Given the description of an element on the screen output the (x, y) to click on. 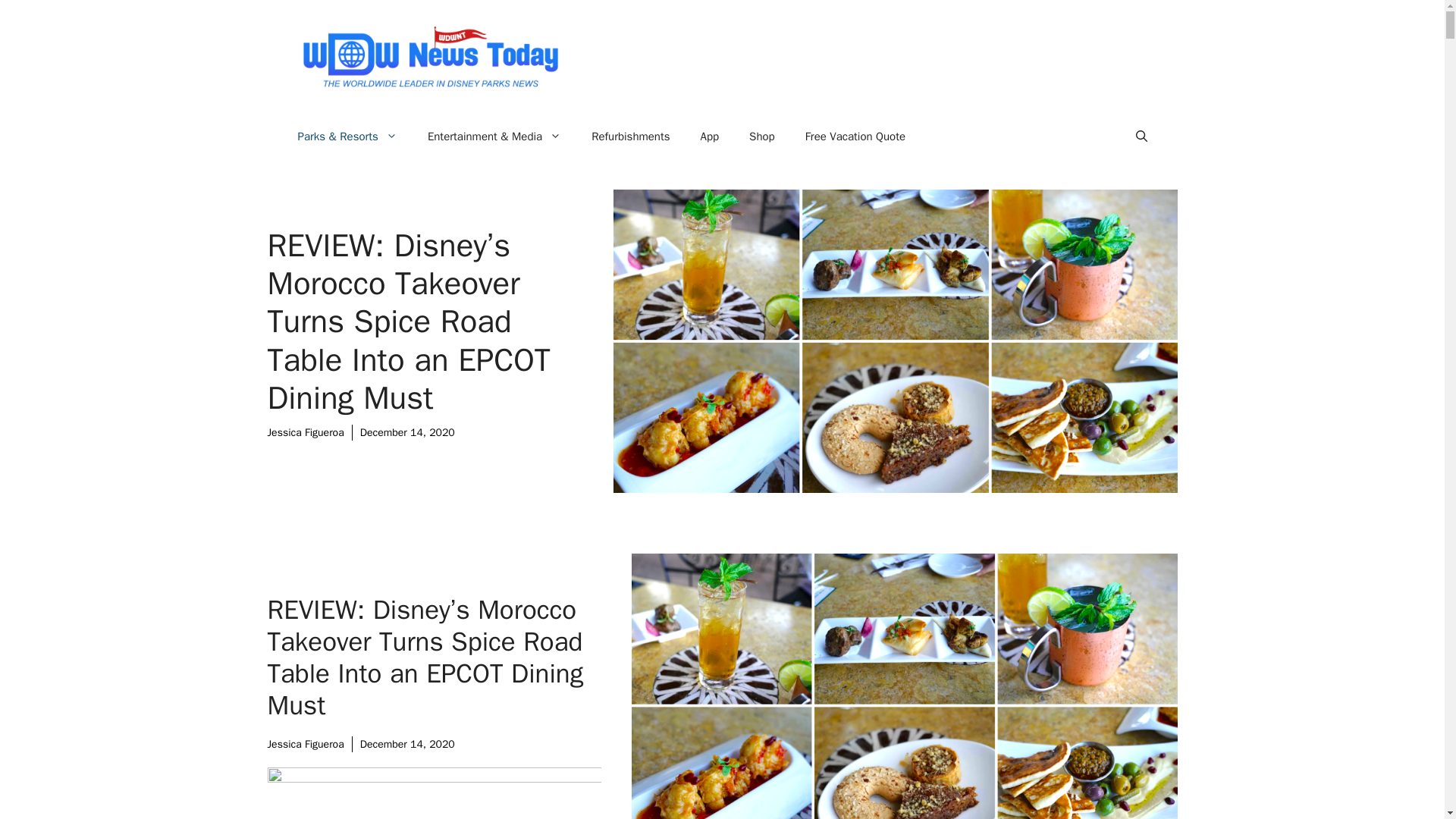
Free Vacation Quote (855, 135)
Shop (761, 135)
Refurbishments (630, 135)
App (710, 135)
